Given the description of an element on the screen output the (x, y) to click on. 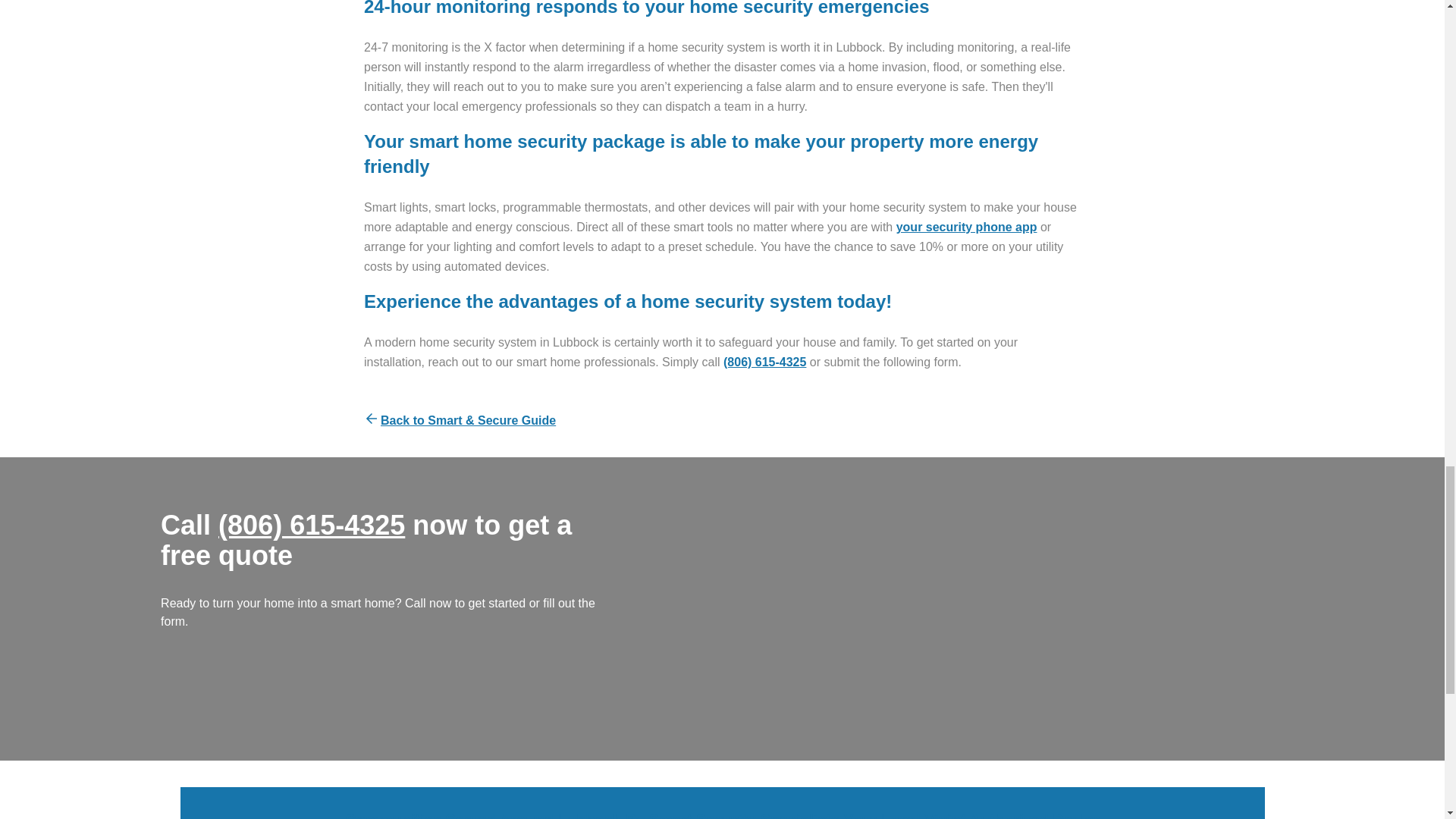
your security phone app (966, 226)
